Given the description of an element on the screen output the (x, y) to click on. 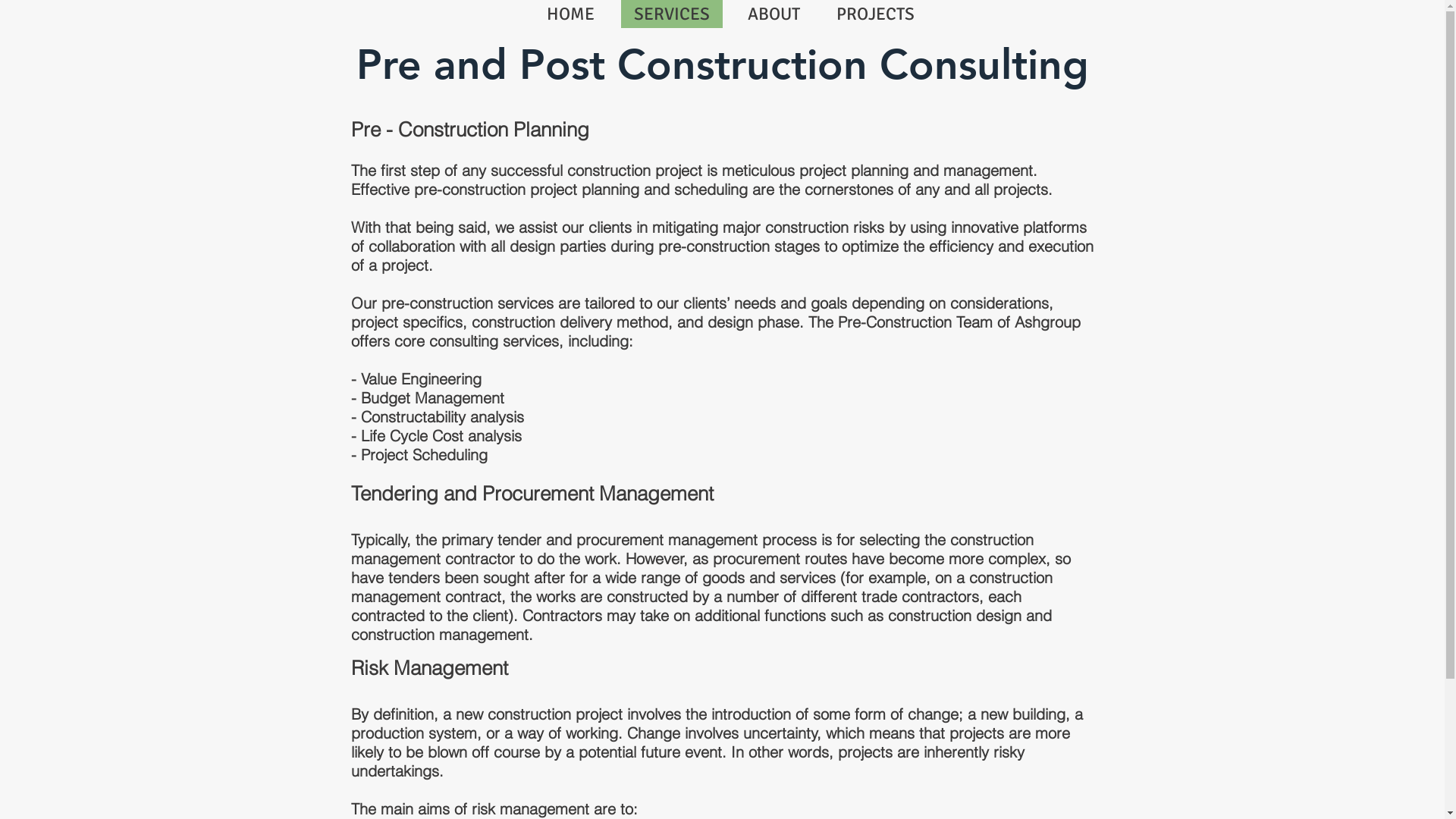
HOME Element type: text (569, 14)
PROJECTS Element type: text (874, 14)
SERVICES Element type: text (670, 14)
ABOUT Element type: text (772, 14)
